Given the description of an element on the screen output the (x, y) to click on. 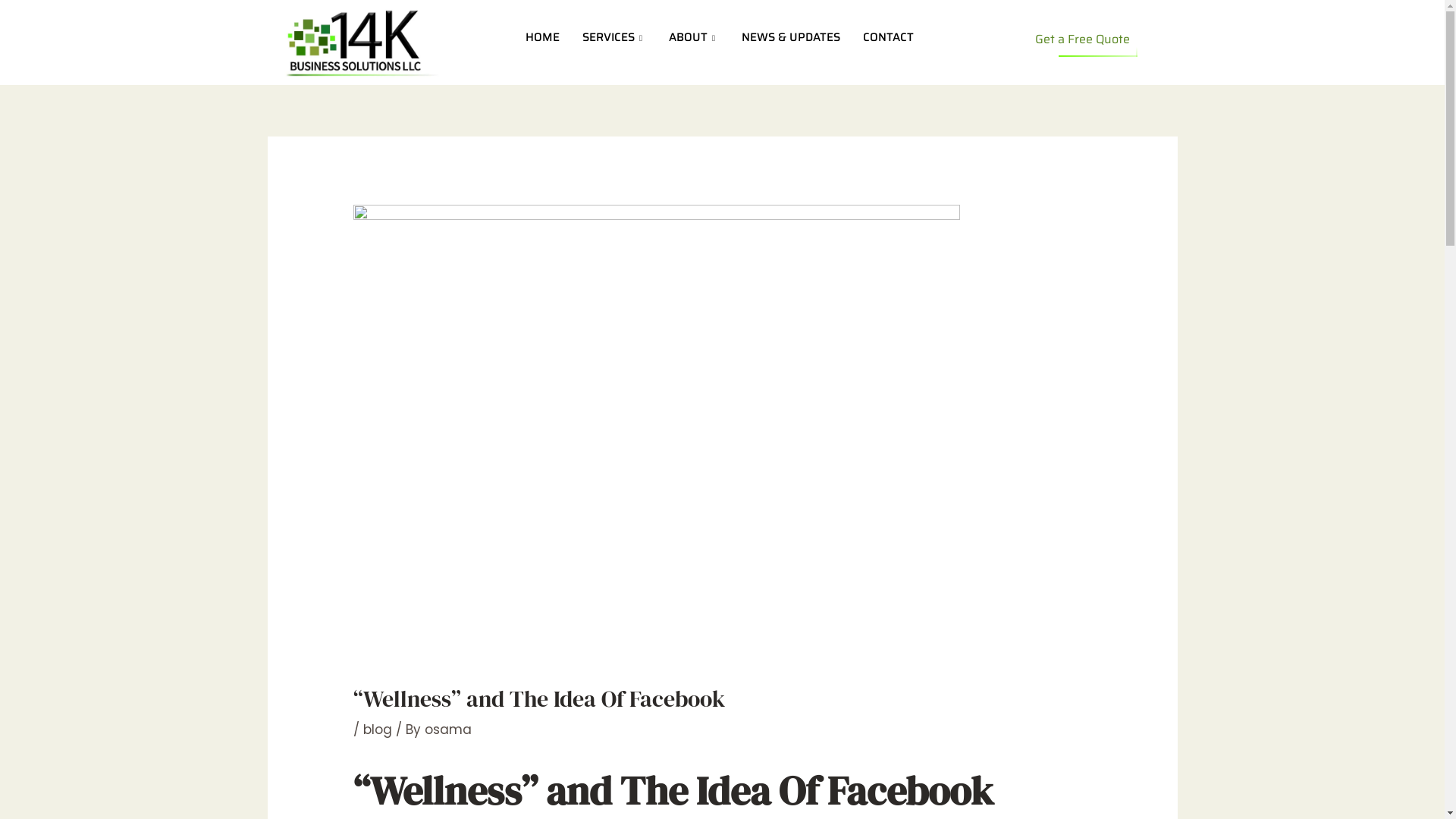
Get a Free Quote Element type: text (1082, 38)
HOME Element type: text (542, 37)
osama Element type: text (447, 729)
SERVICES Element type: text (614, 37)
CONTACT Element type: text (888, 37)
ABOUT Element type: text (693, 37)
blog Element type: text (377, 729)
NEWS & UPDATES Element type: text (790, 37)
